Given the description of an element on the screen output the (x, y) to click on. 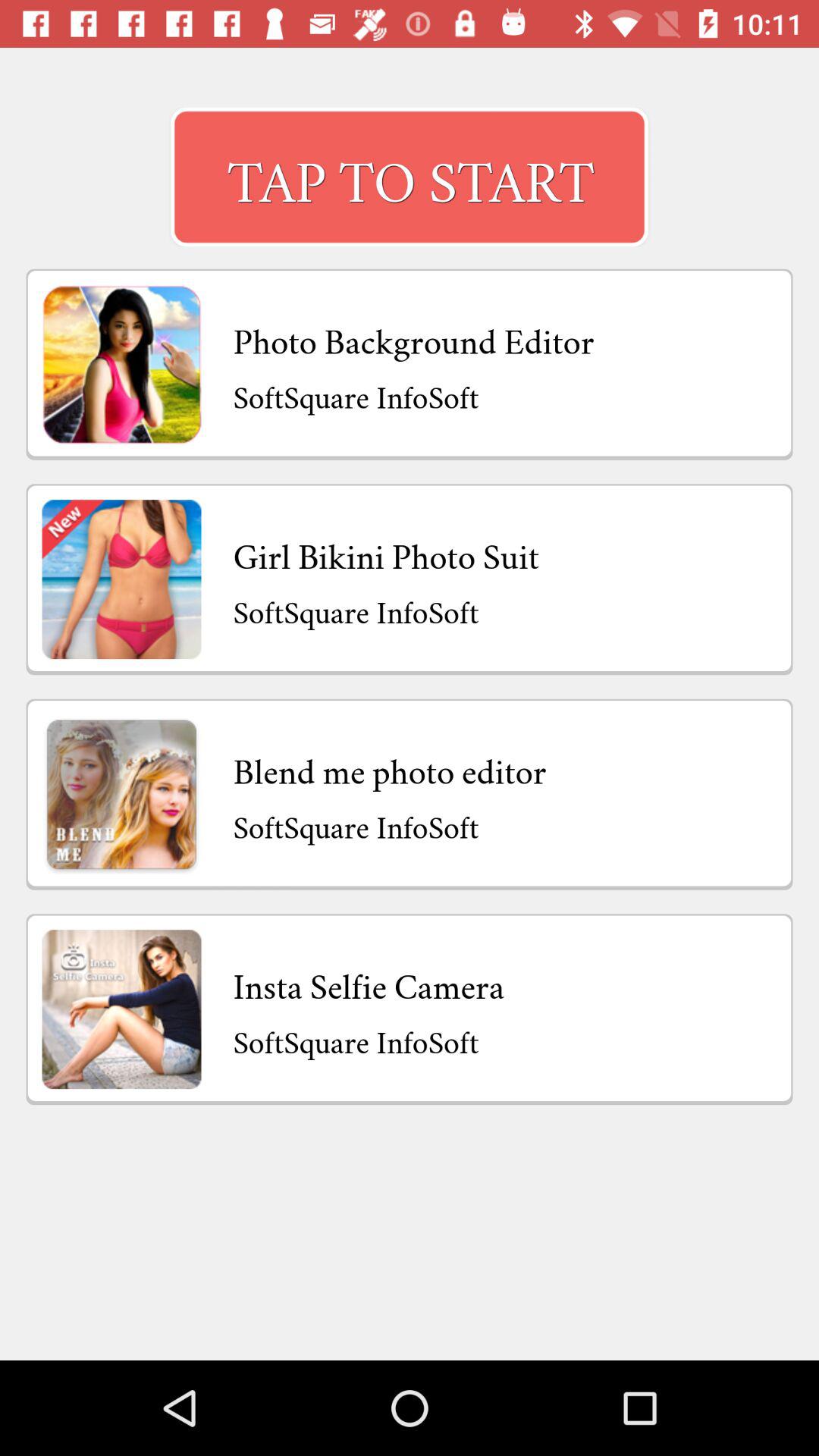
swipe to insta selfie camera item (368, 982)
